Given the description of an element on the screen output the (x, y) to click on. 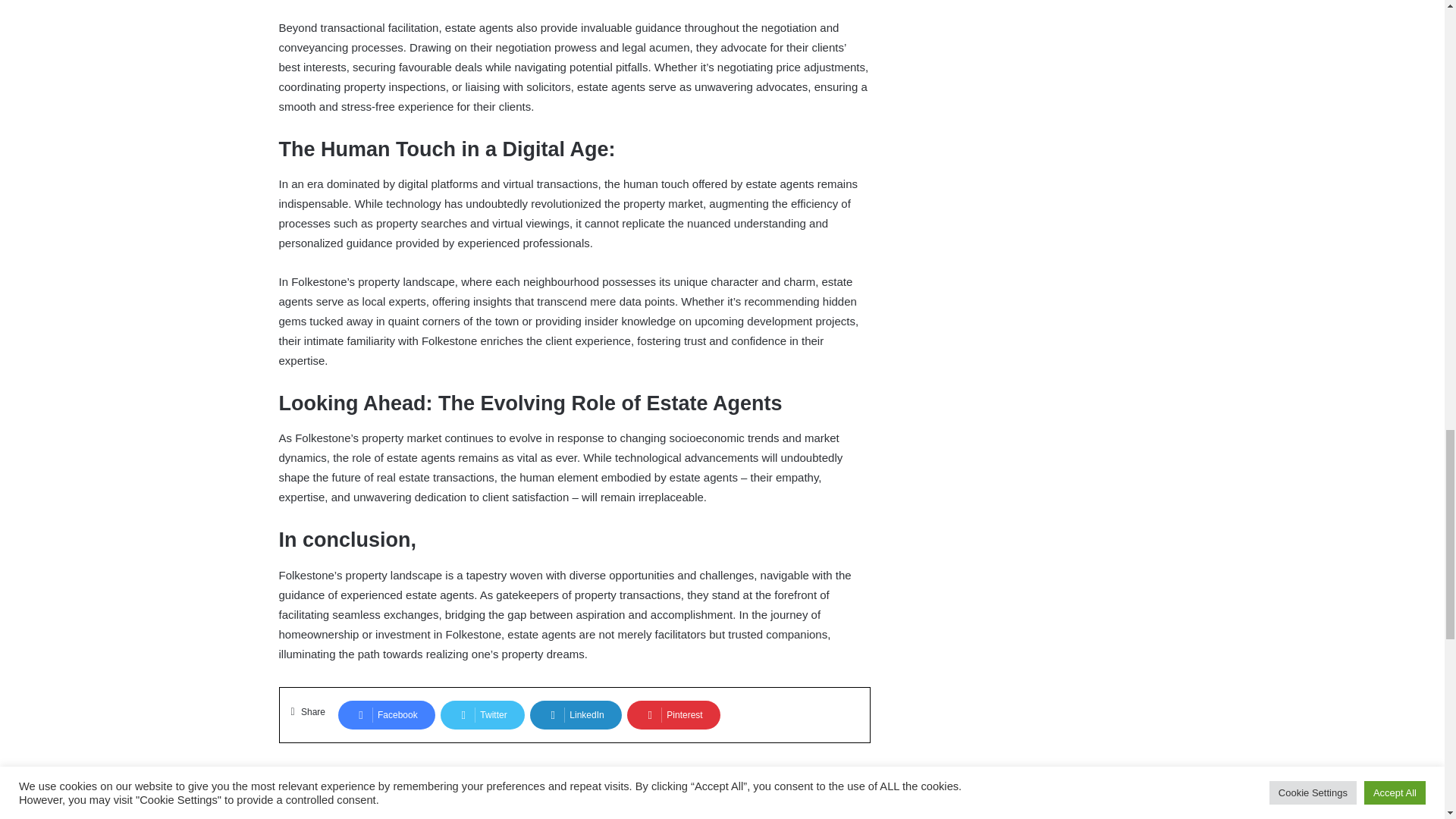
Pinterest (673, 715)
Twitter (482, 715)
LinkedIn (575, 715)
Facebook (386, 715)
